Given the description of an element on the screen output the (x, y) to click on. 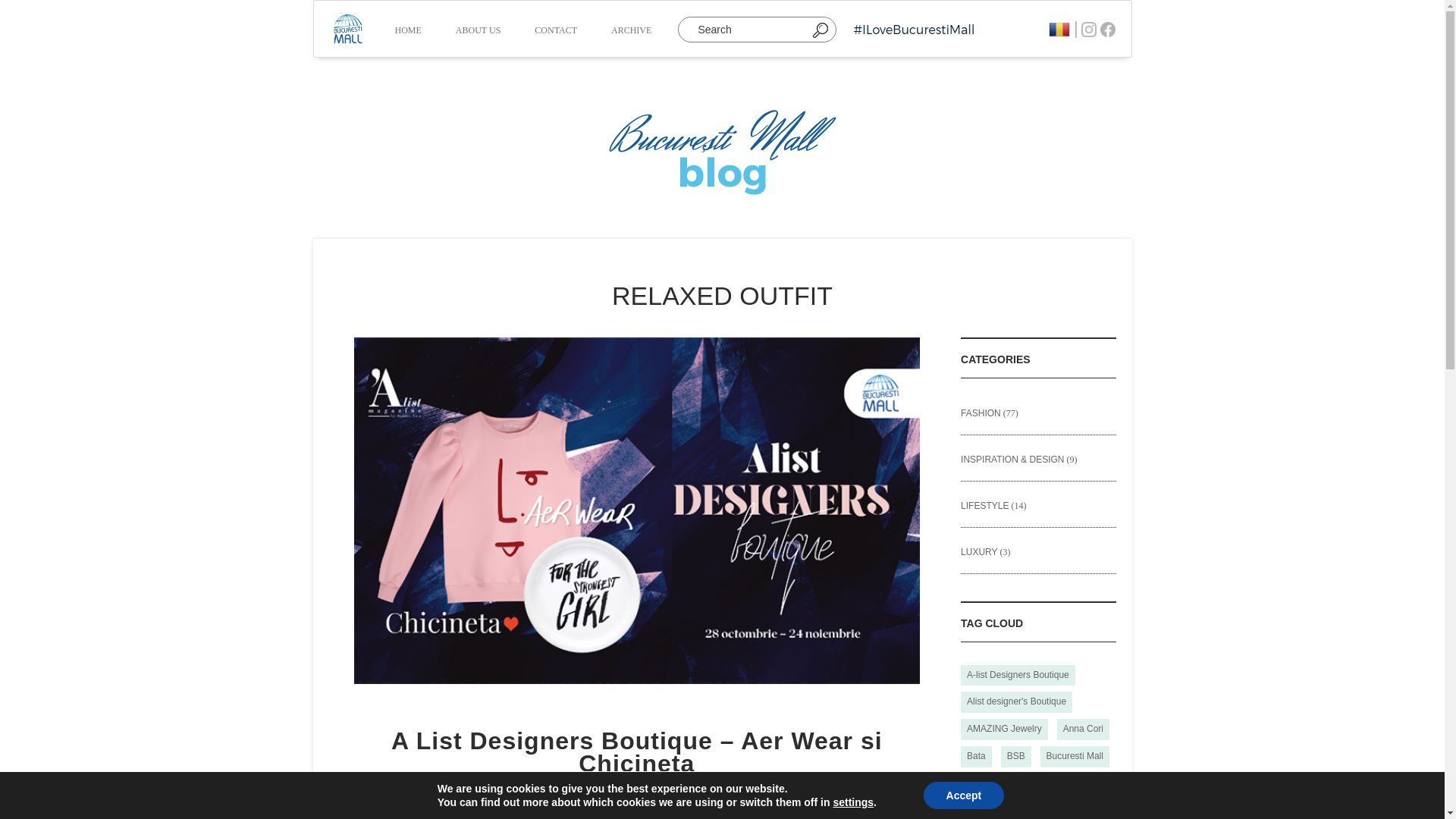
HOME (407, 32)
ARCHIVE (631, 32)
ABOUT US (478, 32)
CONTACT (556, 32)
